Given the description of an element on the screen output the (x, y) to click on. 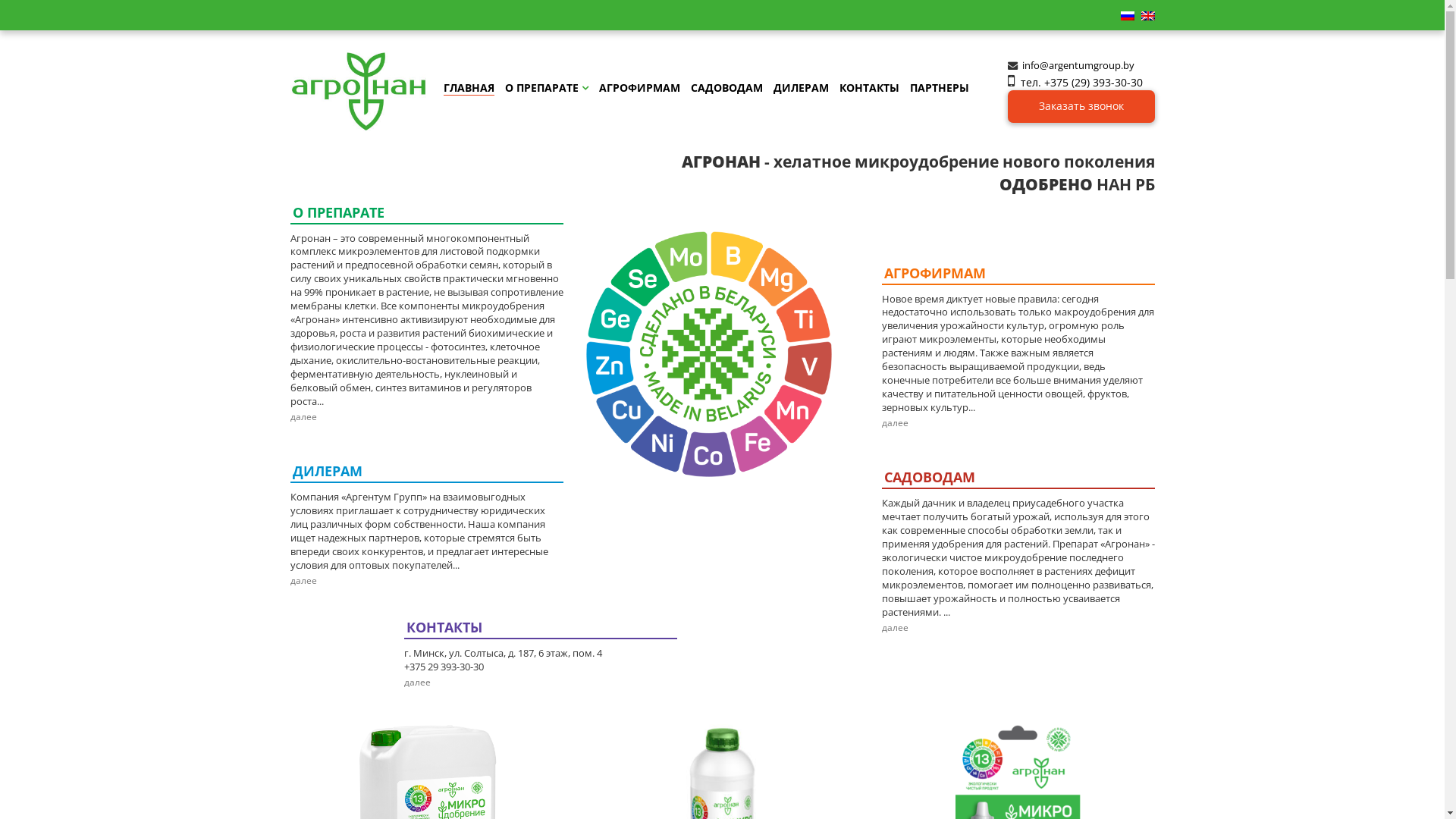
info@argentumgroup.by Element type: text (1078, 65)
English (en) Element type: hover (1147, 14)
